Given the description of an element on the screen output the (x, y) to click on. 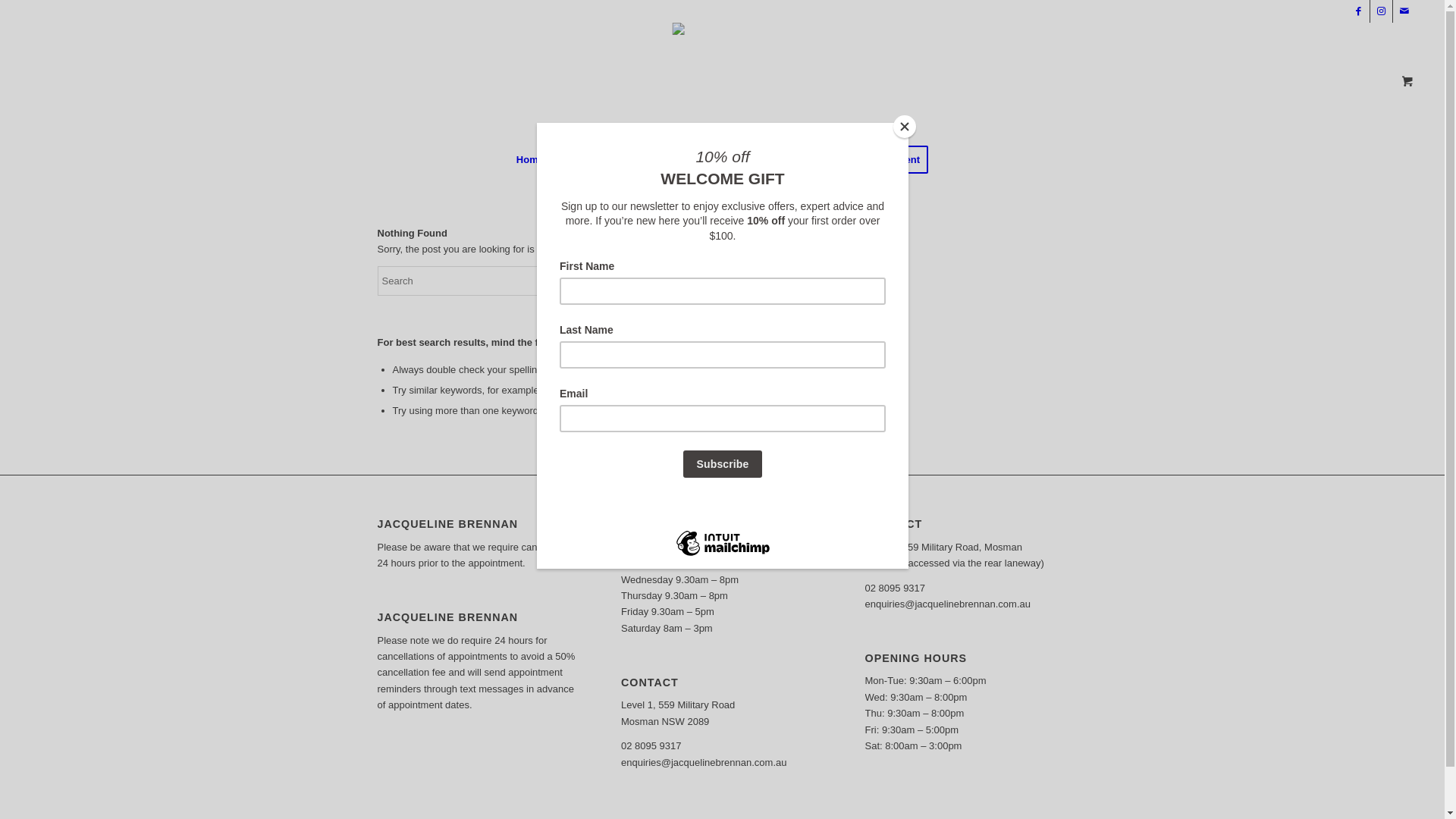
Book treatment Element type: text (888, 159)
Home Element type: text (529, 159)
About Element type: text (649, 159)
Contact Element type: text (757, 159)
Shop Element type: text (816, 159)
Instagram Element type: hover (1381, 11)
Journal Element type: text (701, 159)
Mail Element type: hover (1404, 11)
Treatments Element type: text (589, 159)
Facebook Element type: hover (1358, 11)
